Given the description of an element on the screen output the (x, y) to click on. 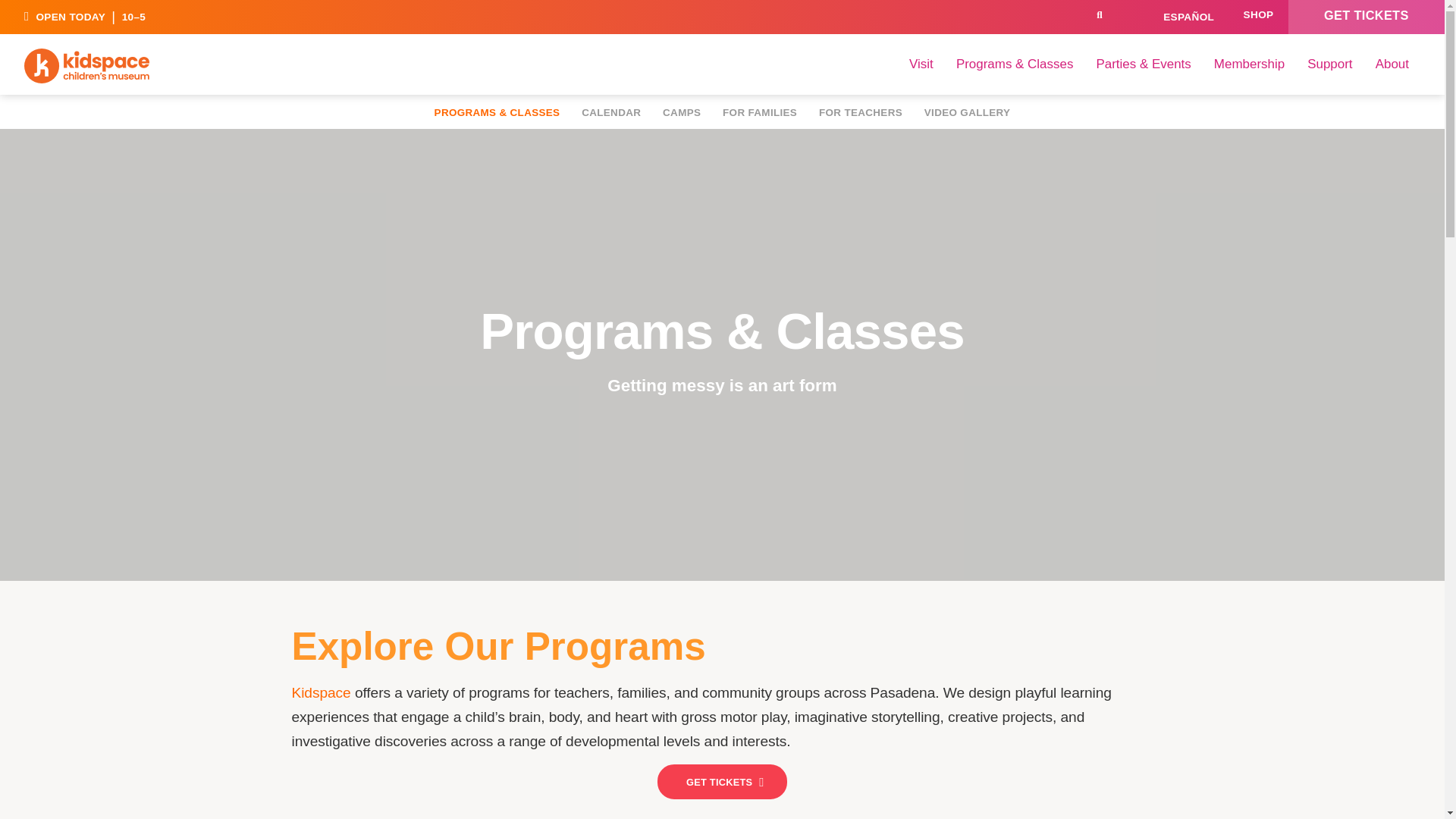
About (1392, 64)
Membership (1248, 64)
Support (1328, 64)
SHOP (1257, 17)
CALENDAR (1132, 17)
